Given the description of an element on the screen output the (x, y) to click on. 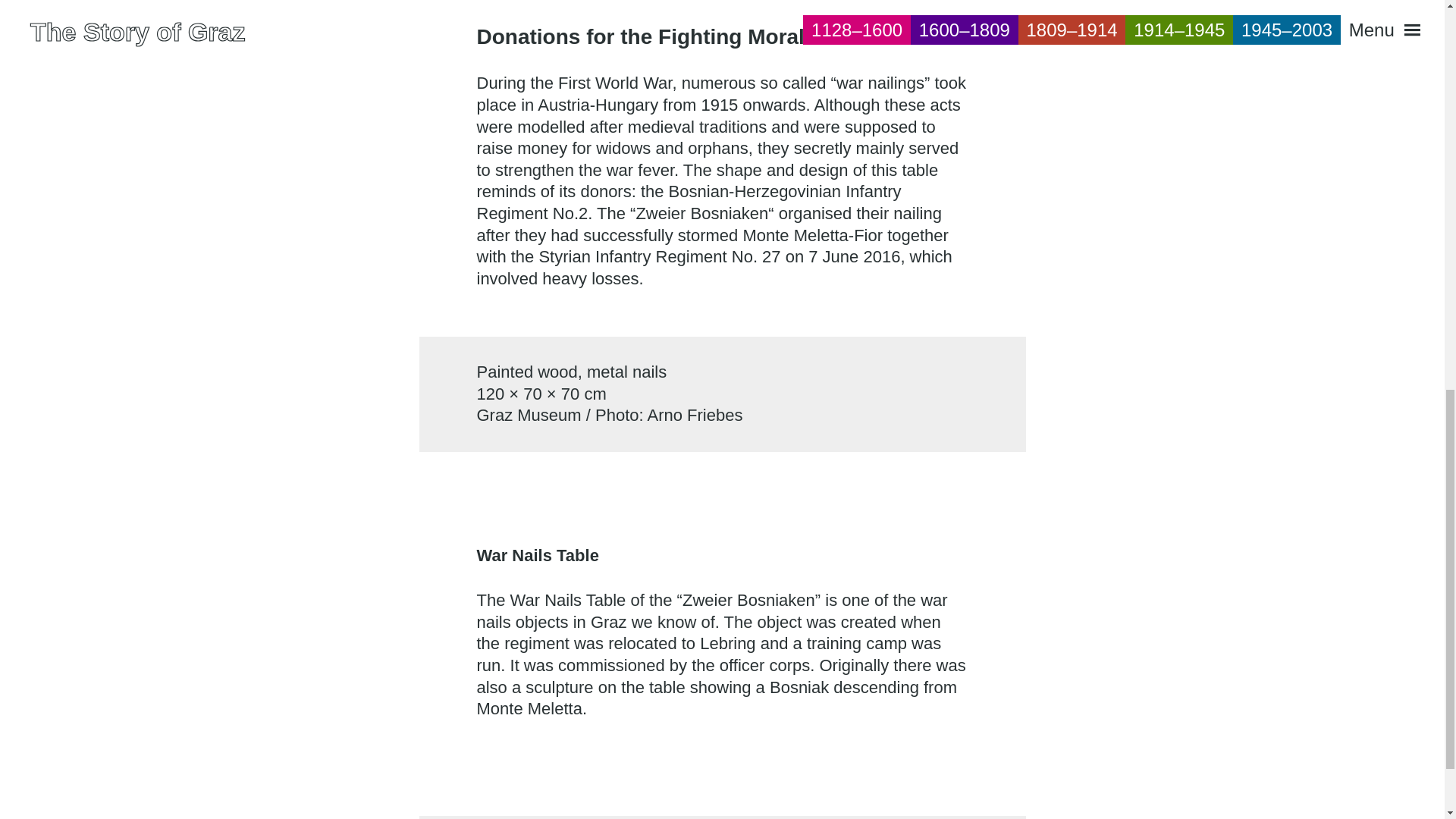
Close Created with Sketch. (1372, 111)
Created with Sketch. (1401, 111)
